Given the description of an element on the screen output the (x, y) to click on. 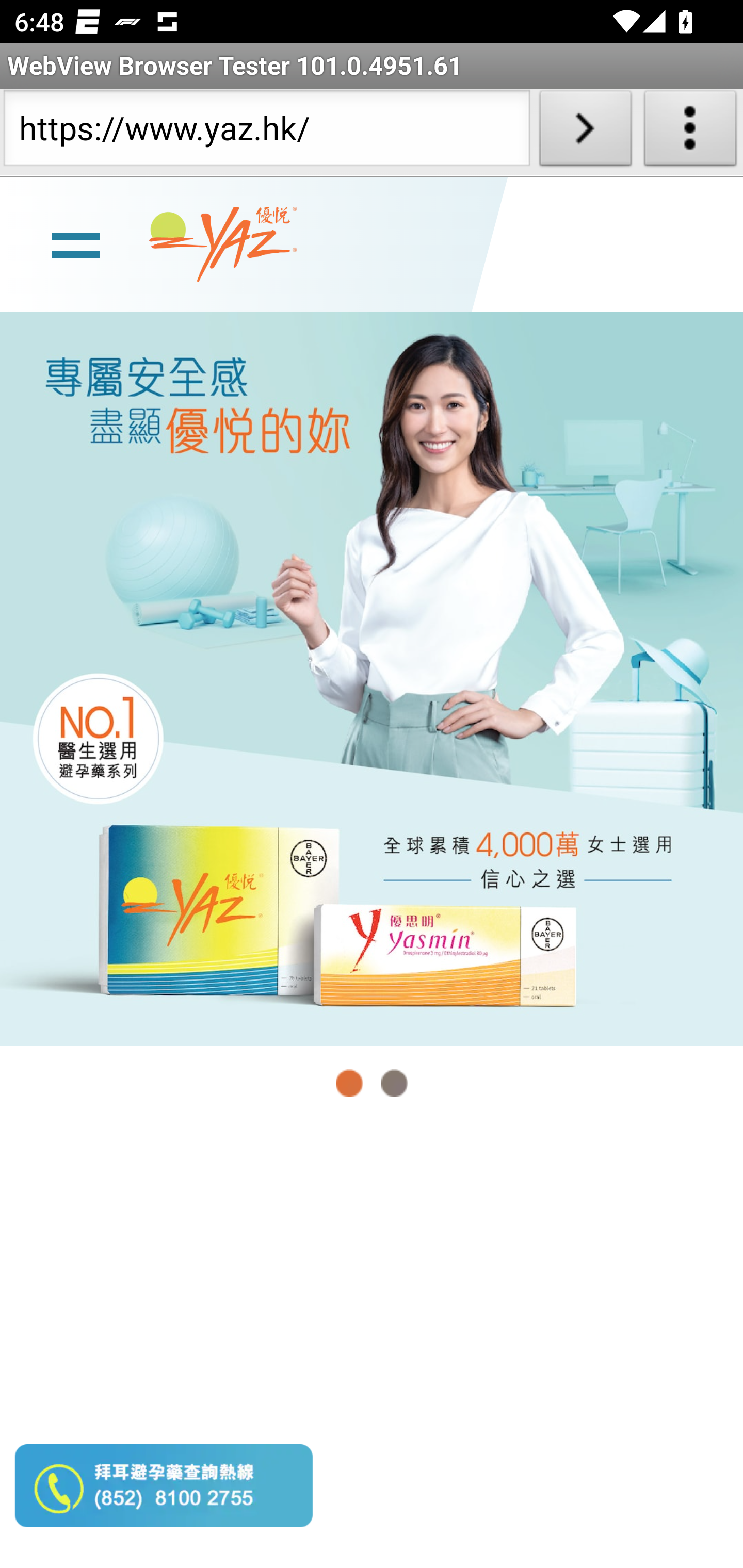
https://www.yaz.hk/ (266, 132)
Load URL (585, 132)
About WebView (690, 132)
www.yaz (222, 244)
line Toggle burger menu (75, 242)
slide 1 Alt tag Alt tag (371, 677)
1 of 2 (349, 1083)
2 of 2 (393, 1083)
